Given the description of an element on the screen output the (x, y) to click on. 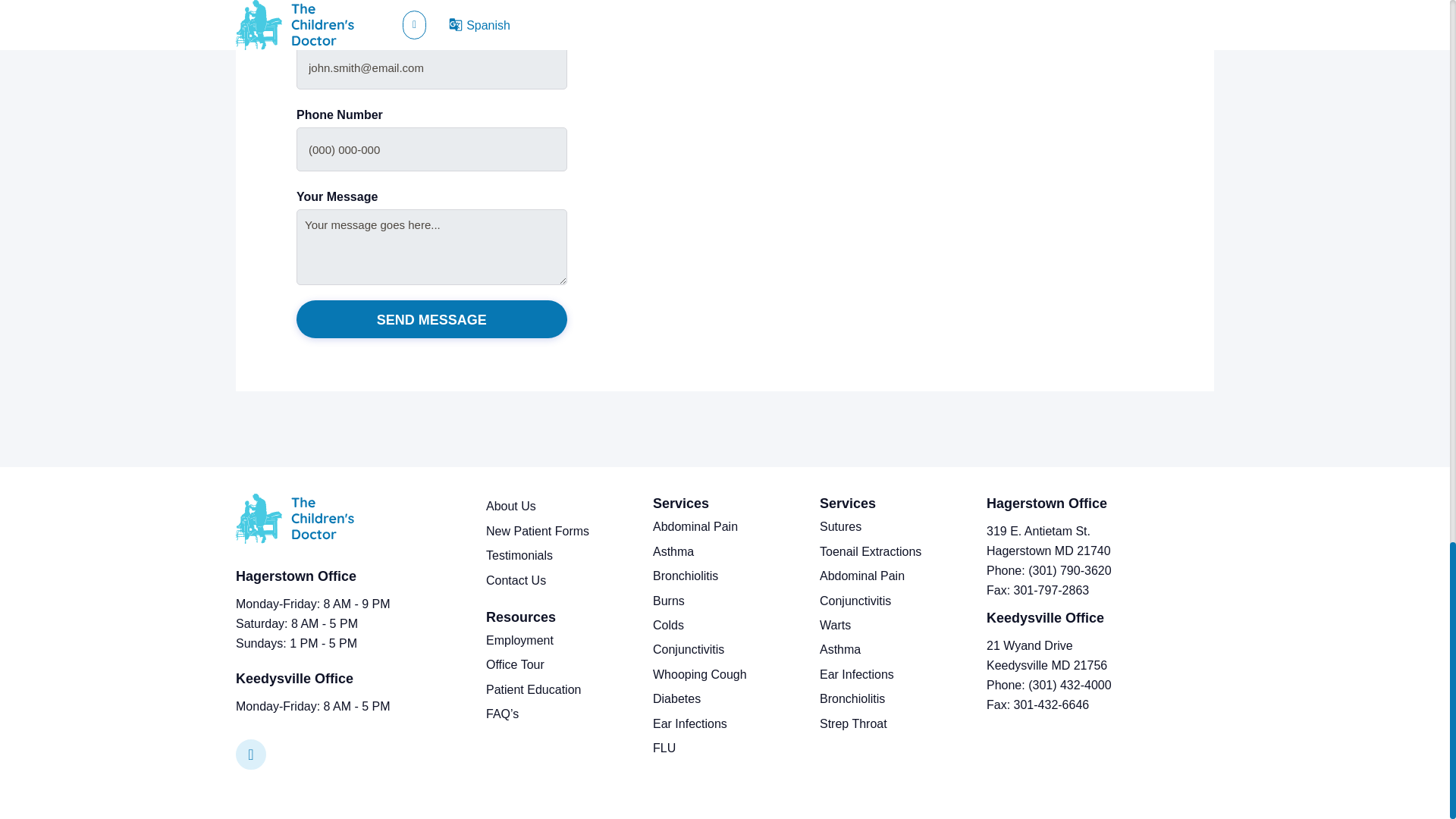
Call Us! (1068, 570)
About Us (510, 505)
Asthma (673, 551)
Office Tour (515, 664)
Asthma (839, 649)
New Patient Forms (537, 530)
Toenail Extractions (870, 551)
Warts (834, 625)
Whooping Cough (699, 674)
Testimonials (519, 554)
Sutures (840, 526)
Abdominal Pain (861, 575)
Call Us! (1051, 590)
Burns (668, 600)
Submit (432, 319)
